Given the description of an element on the screen output the (x, y) to click on. 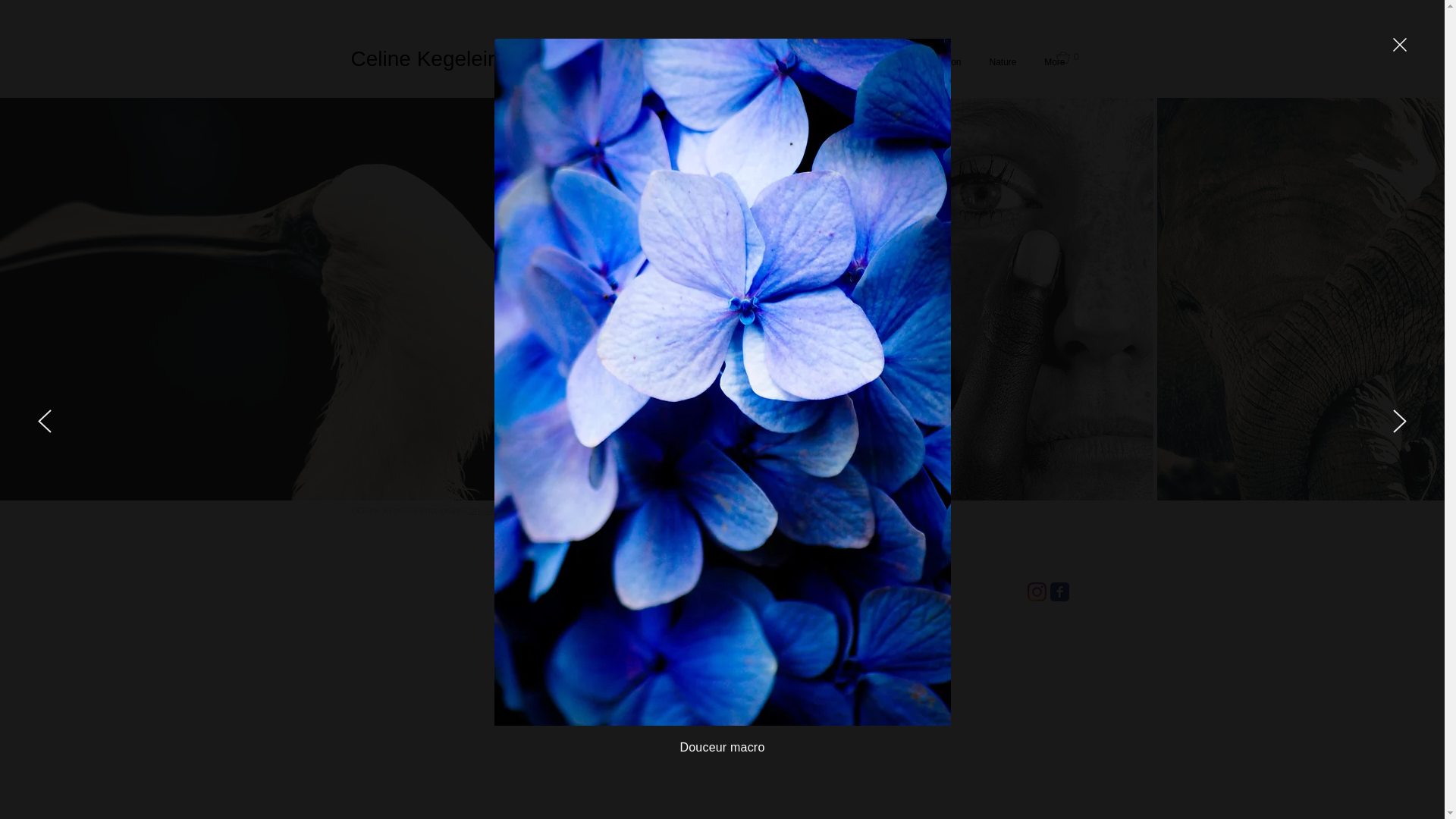
Creation Element type: text (942, 61)
Nature Element type: text (1001, 61)
About Element type: text (761, 61)
Celine Kegeleirs Photo Element type: text (458, 58)
Welcome Element type: text (653, 61)
Expo Element type: text (886, 61)
New project Element type: text (824, 61)
Shop Element type: text (711, 61)
Home Element type: text (593, 61)
